Given the description of an element on the screen output the (x, y) to click on. 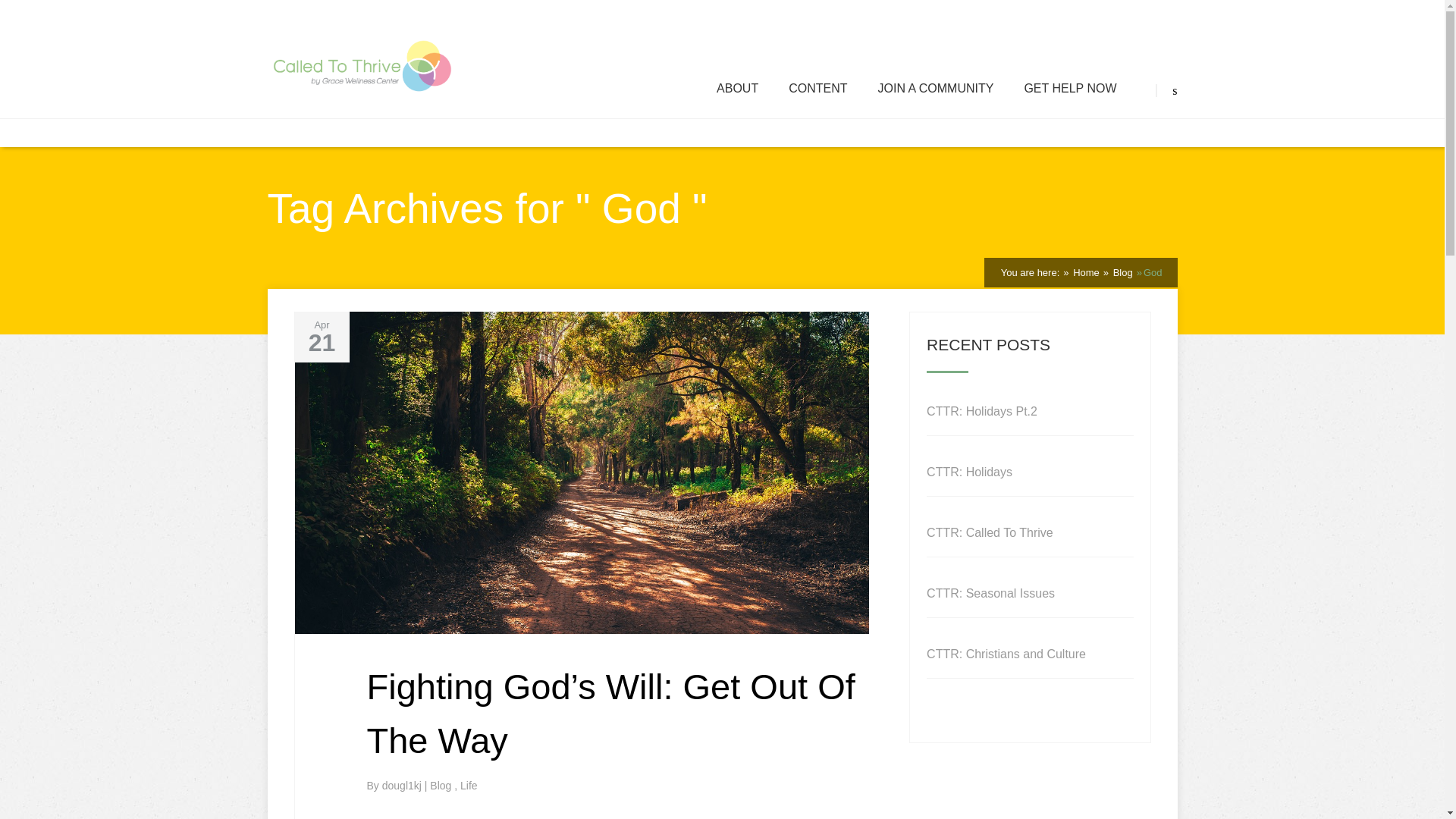
CTTR: Seasonal Issues (990, 593)
dougl1kj (403, 785)
CTTR: Holidays (968, 472)
CTTR: Christians and Culture (1006, 654)
JOIN A COMMUNITY (934, 88)
CTTR: Holidays Pt.2 (981, 411)
Life (468, 785)
ABOUT (737, 88)
CONTENT (818, 88)
Home (1084, 272)
Blog (1120, 272)
CTTR: Called To Thrive (989, 532)
Blog (441, 785)
GET HELP NOW (1069, 88)
